Given the description of an element on the screen output the (x, y) to click on. 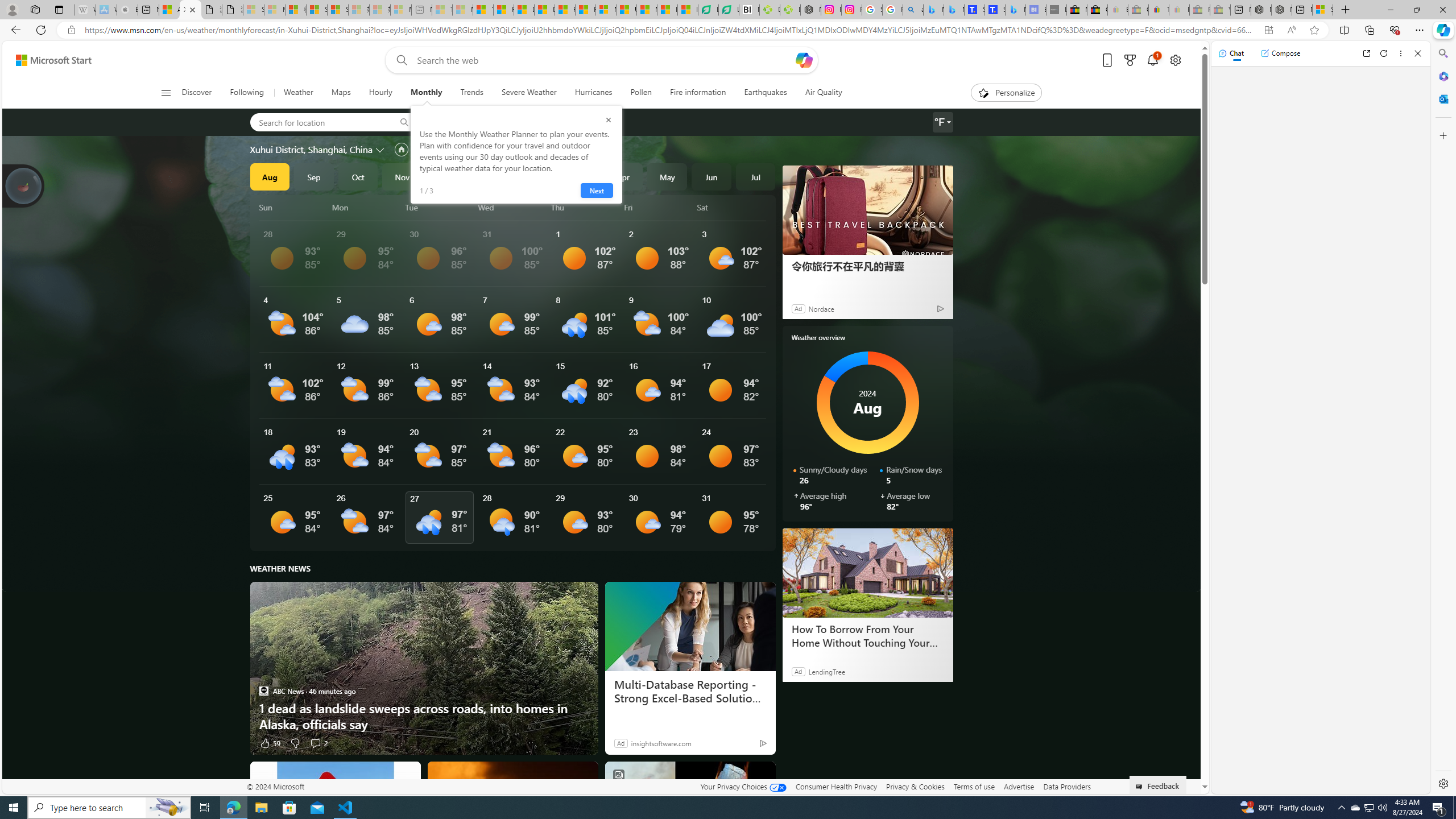
Set as primary location (400, 149)
Join us in planting real trees to help our planet! (23, 185)
